Given the description of an element on the screen output the (x, y) to click on. 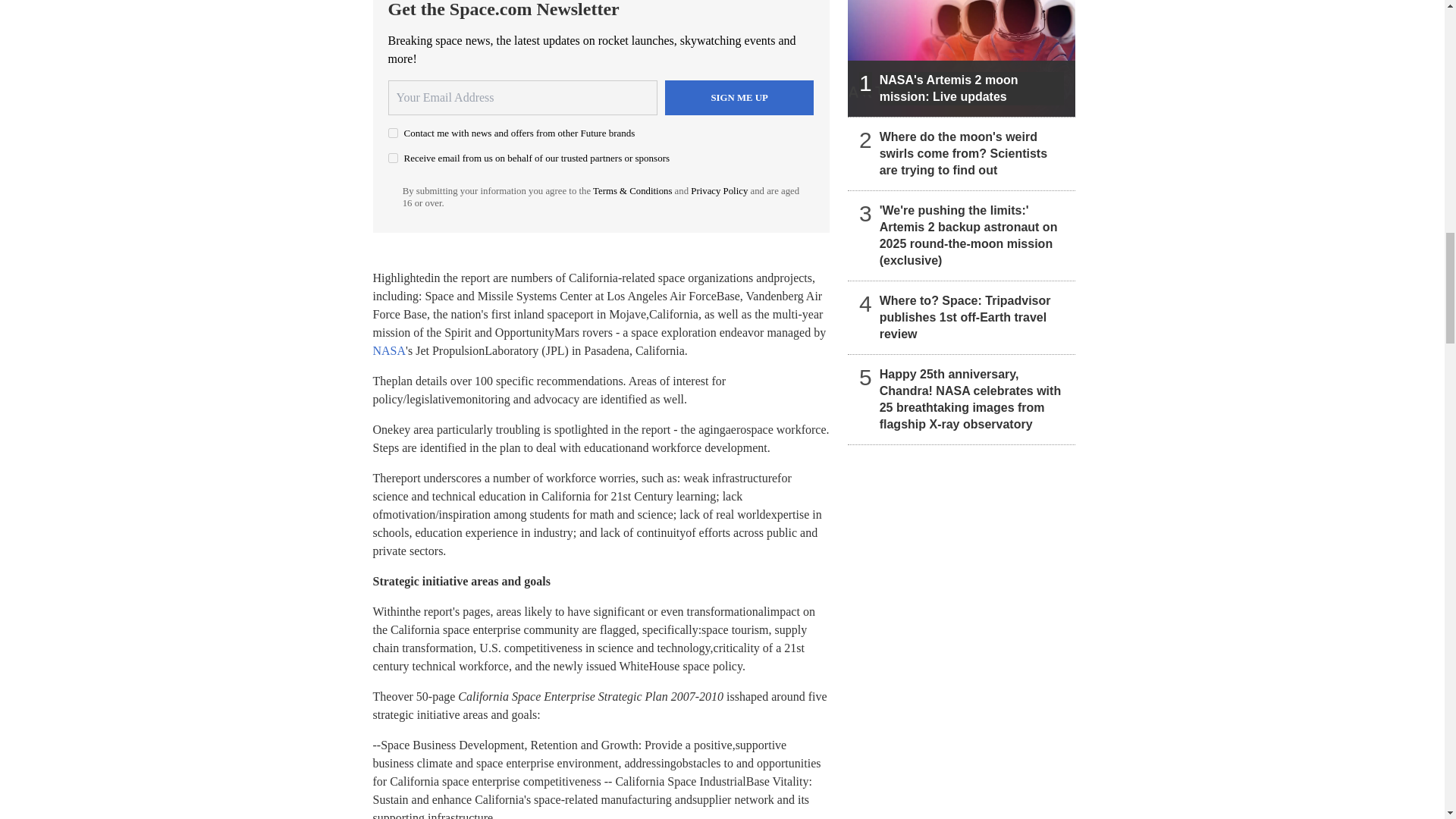
Sign me up (739, 97)
on (392, 132)
on (392, 157)
